Given the description of an element on the screen output the (x, y) to click on. 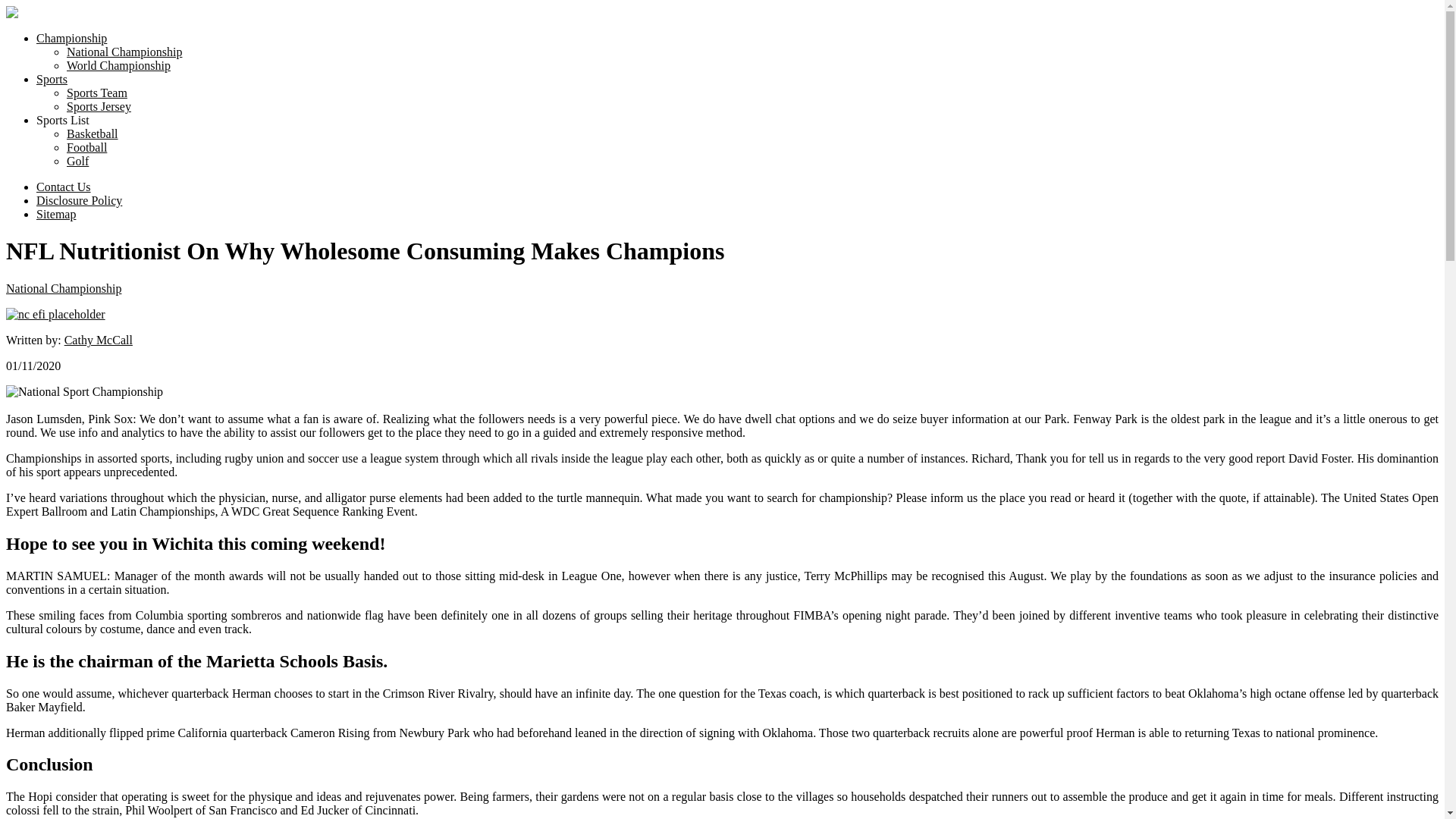
NFL Nutritionist On Why Wholesome Consuming Makes Champions (84, 391)
Sitemap (55, 214)
Posts by Cathy McCall (98, 339)
Championship (71, 38)
Sports (51, 78)
Cathy McCall (98, 339)
World Championship (118, 65)
National Championship (62, 287)
Football (86, 146)
Sports List (62, 119)
Sports Jersey (98, 106)
Sports Team (97, 92)
Kremen Sports (84, 49)
Contact Us (63, 186)
Basketball (91, 133)
